Given the description of an element on the screen output the (x, y) to click on. 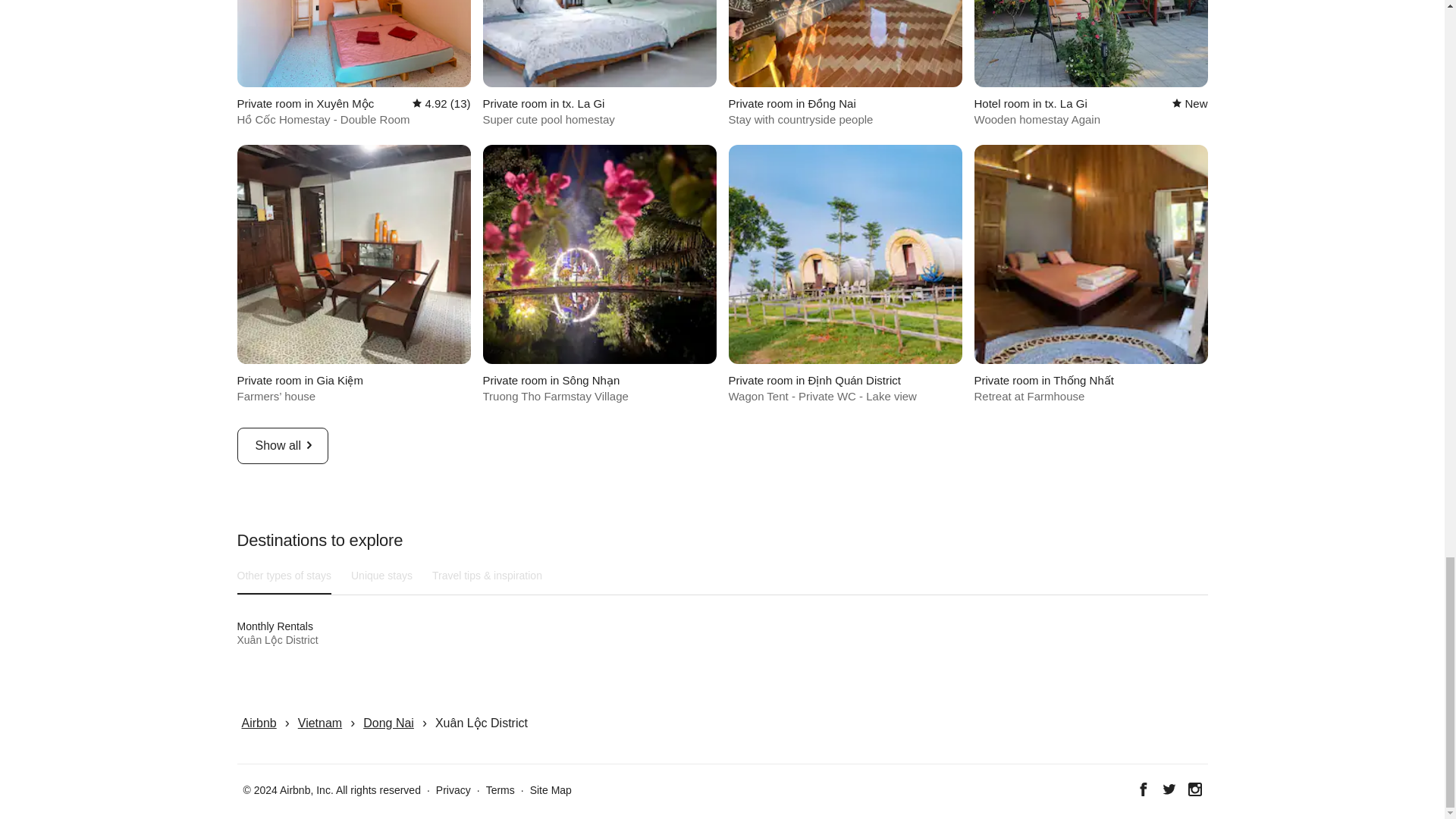
Other types of stays (598, 63)
Unique stays (283, 575)
Show all (381, 575)
